Given the description of an element on the screen output the (x, y) to click on. 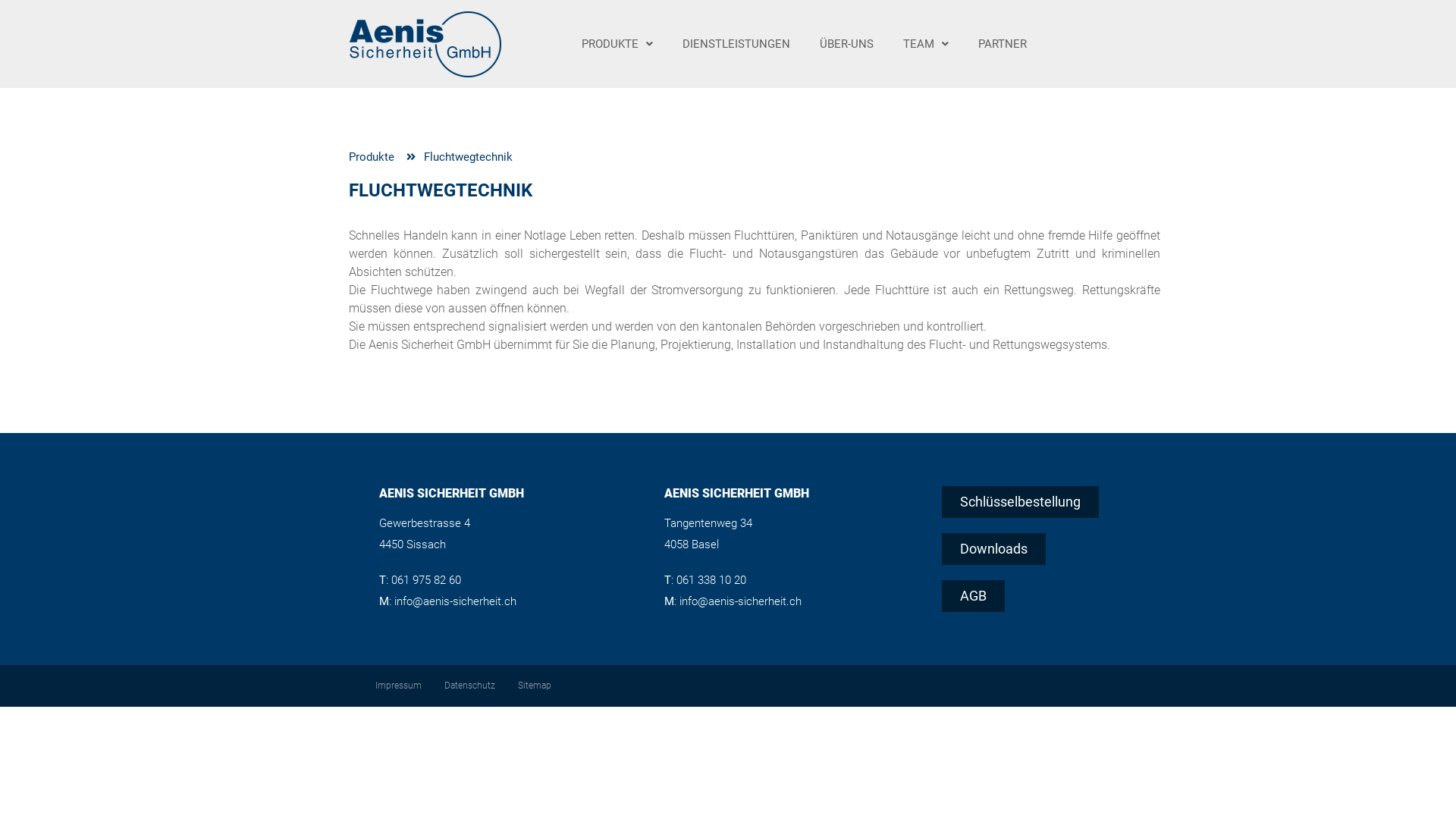
Datenschutz Element type: text (469, 684)
TEAM Element type: text (925, 43)
PRODUKTE Element type: text (617, 43)
Downloads Element type: text (993, 548)
PARTNER Element type: text (1002, 43)
DIENSTLEISTUNGEN Element type: text (736, 43)
Fluchtwegtechnik Element type: text (459, 157)
Sitemap Element type: text (534, 684)
Impressum Element type: text (398, 684)
Produkte Element type: text (371, 157)
AGB Element type: text (972, 595)
